Given the description of an element on the screen output the (x, y) to click on. 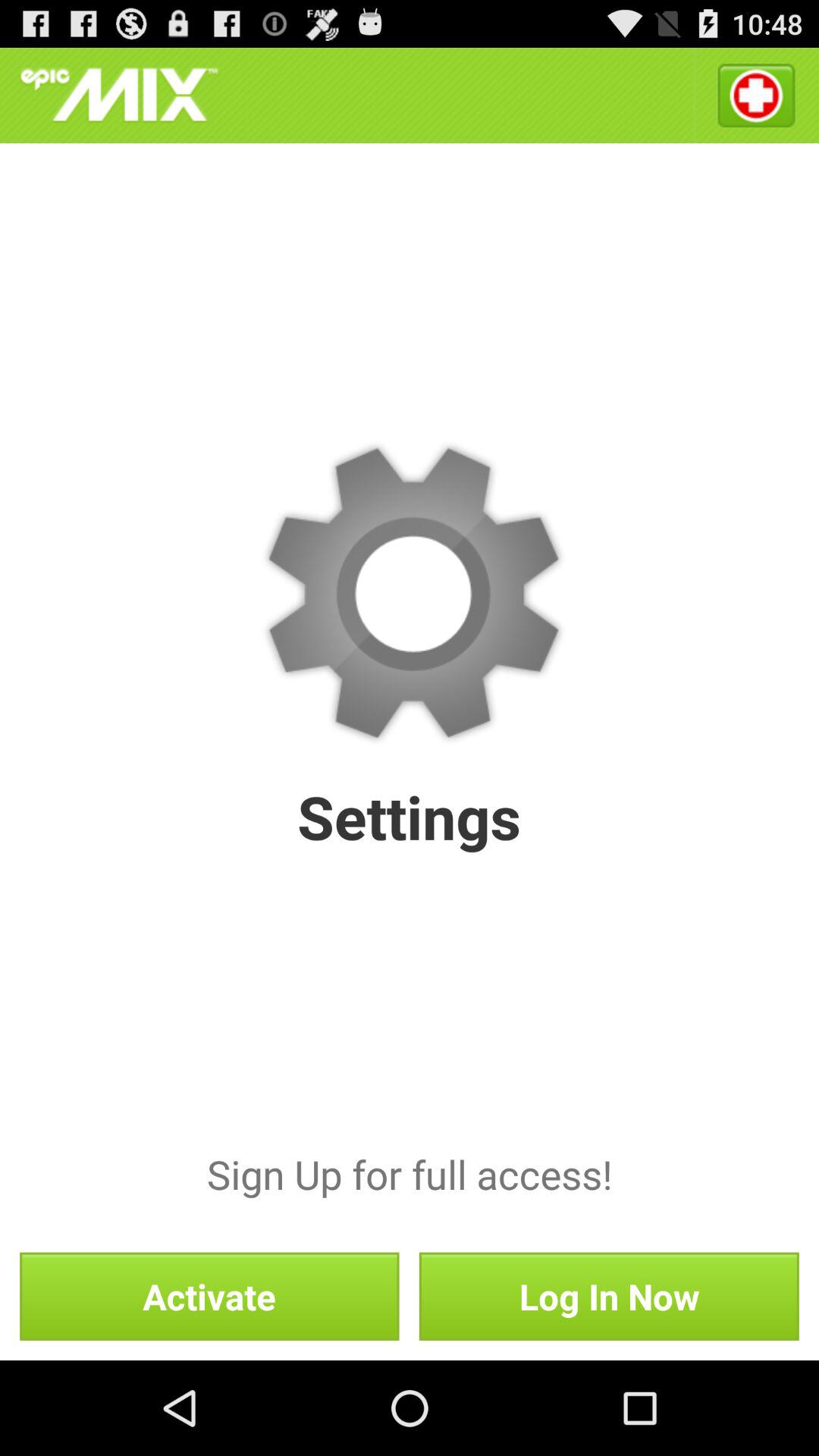
tap the activate (209, 1296)
